Given the description of an element on the screen output the (x, y) to click on. 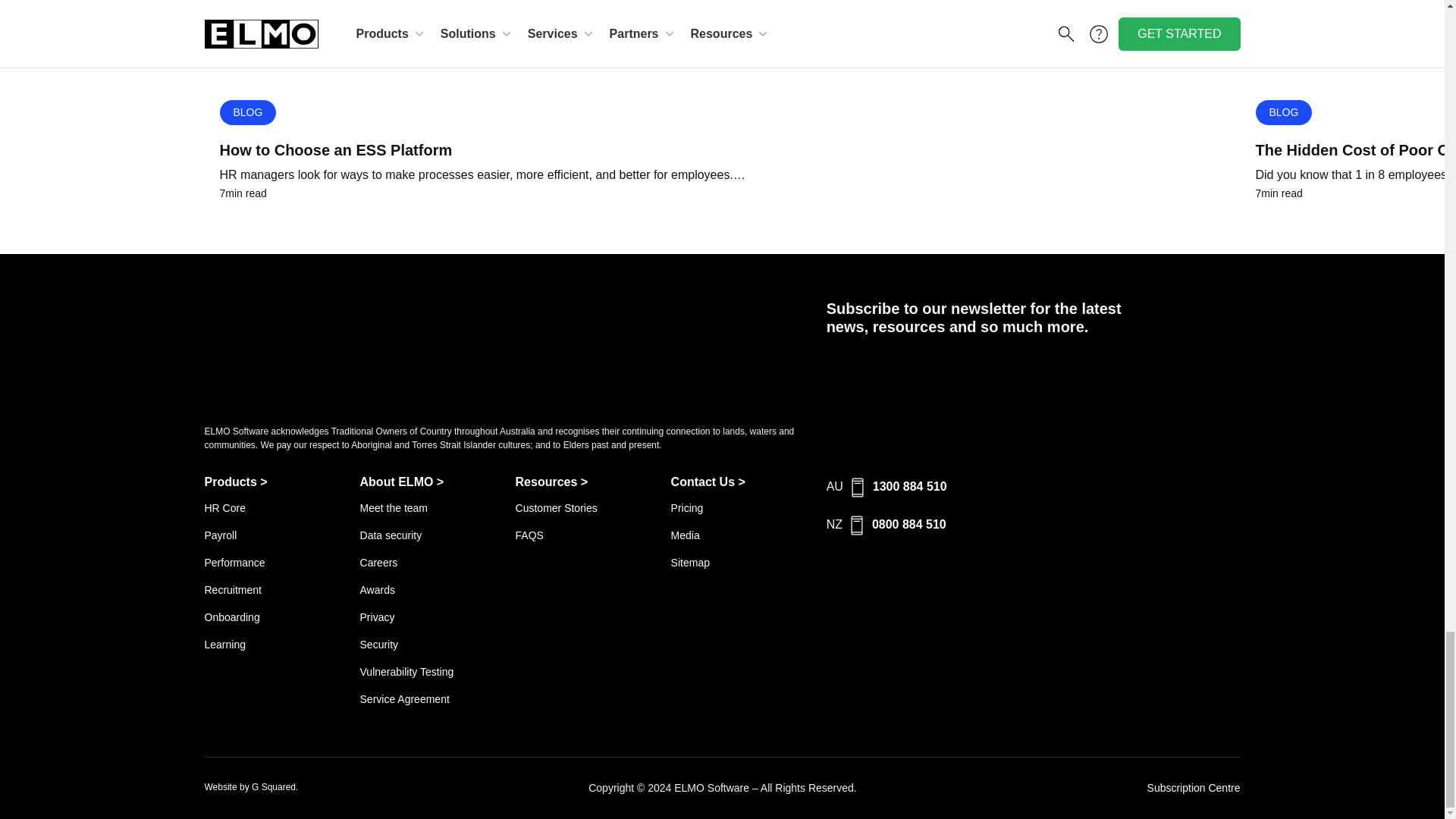
How to Choose an ESS Platform (722, 148)
